Given the description of an element on the screen output the (x, y) to click on. 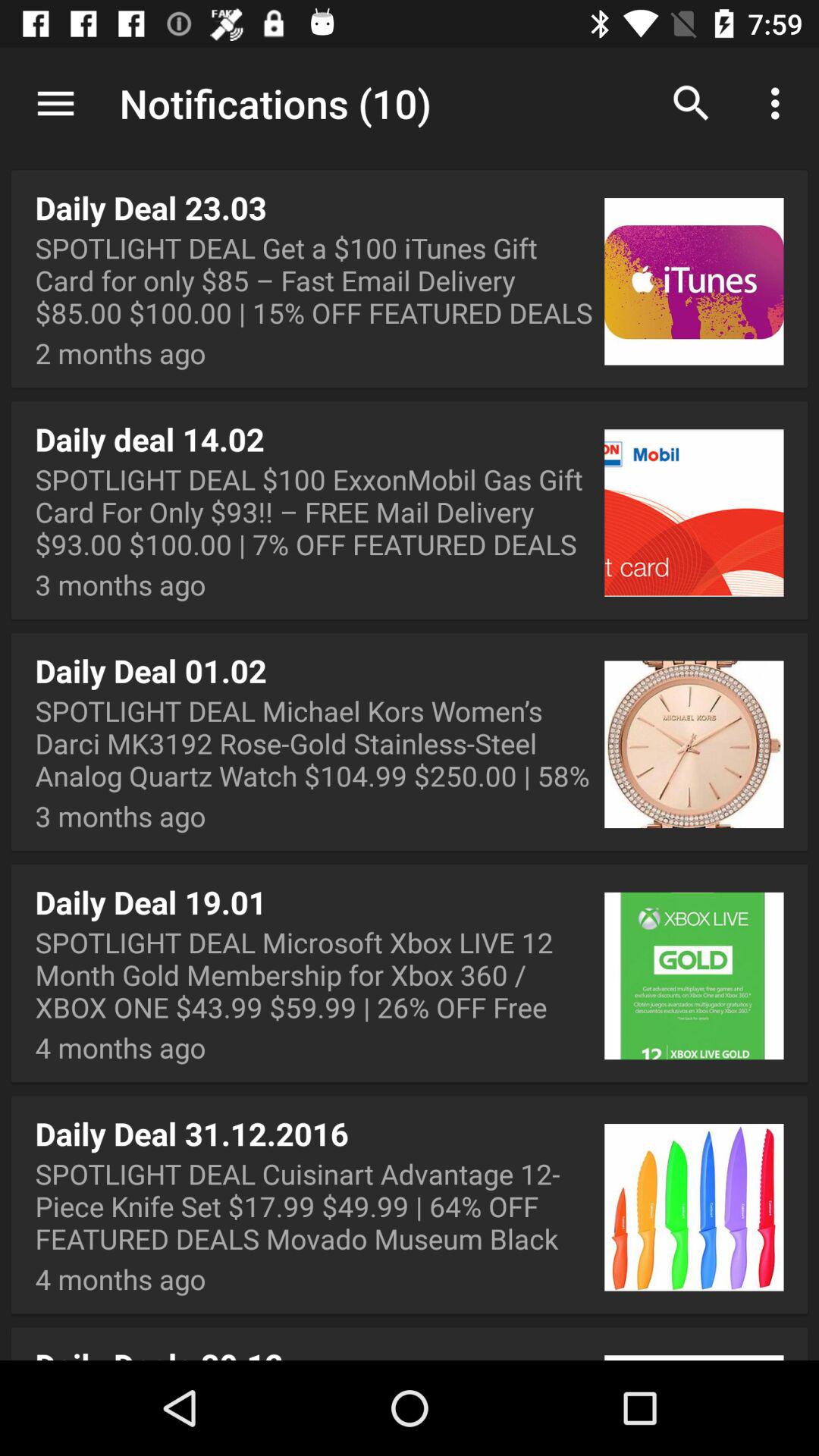
choose item to the right of notifications (10) app (691, 103)
